Given the description of an element on the screen output the (x, y) to click on. 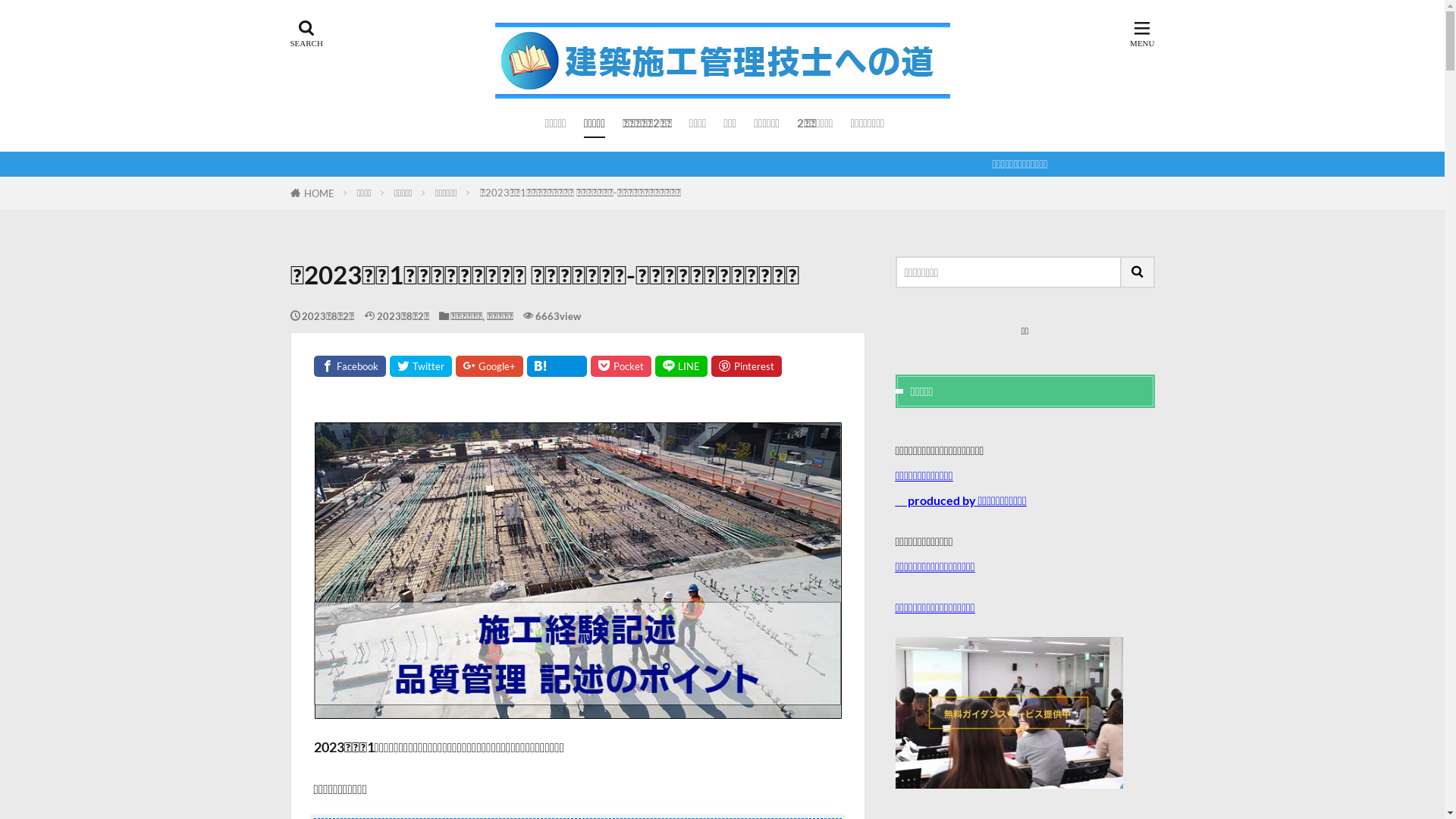
Google+ Element type: hover (488, 365)
search Element type: text (1137, 272)
Pocket Element type: hover (619, 365)
Twitter Element type: hover (420, 365)
Facebook Element type: hover (349, 365)
LINE Element type: hover (681, 365)
Pinterest Element type: hover (746, 365)
HOME Element type: text (318, 193)
